Given the description of an element on the screen output the (x, y) to click on. 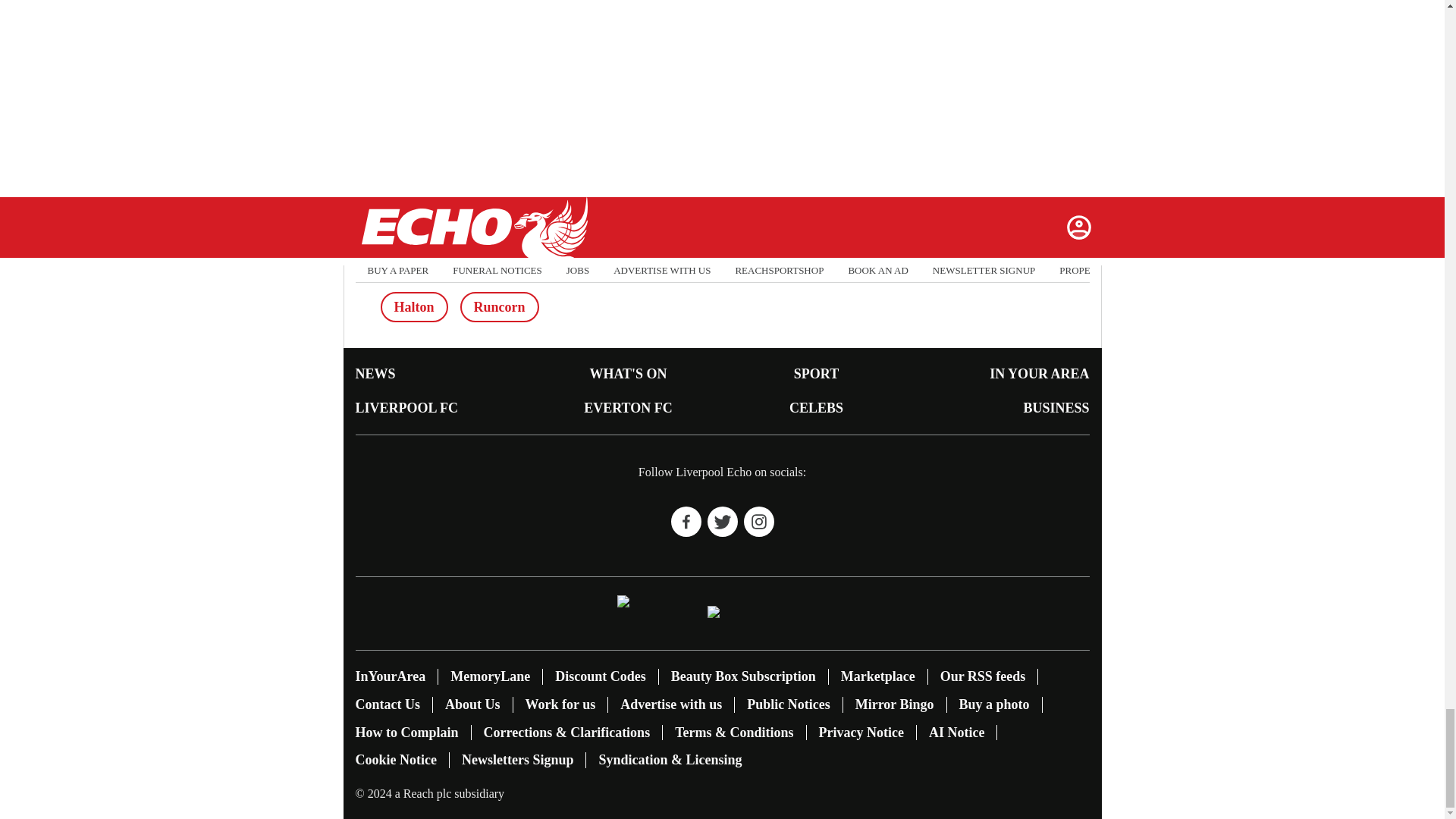
Runcorn (499, 306)
CELEBS (816, 407)
IN YOUR AREA (1039, 373)
WHAT'S ON (627, 373)
NEWS (374, 373)
LIVERPOOL FC (406, 407)
Halton (414, 306)
BUSINESS (1056, 407)
EVERTON FC (627, 407)
SPORT (815, 373)
